Given the description of an element on the screen output the (x, y) to click on. 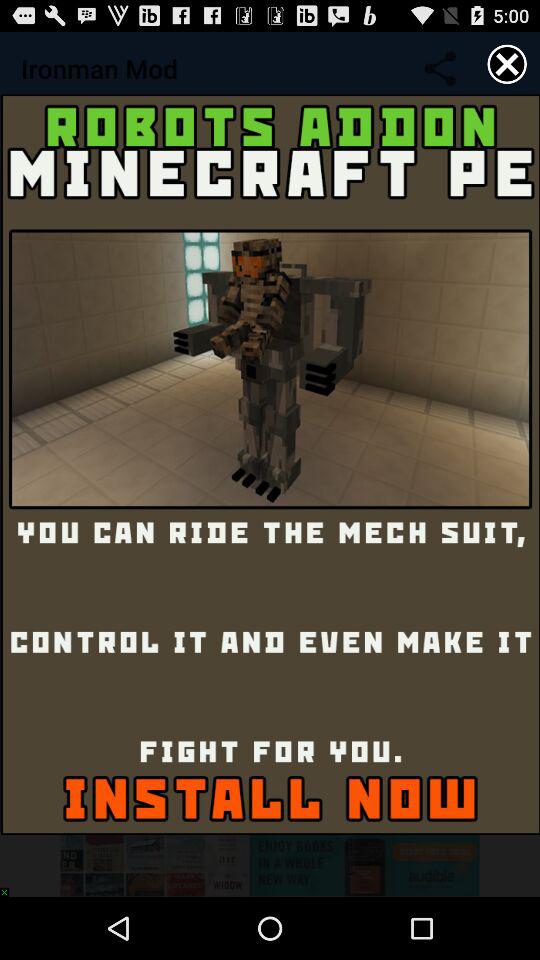
tap item at the bottom left corner (9, 887)
